Given the description of an element on the screen output the (x, y) to click on. 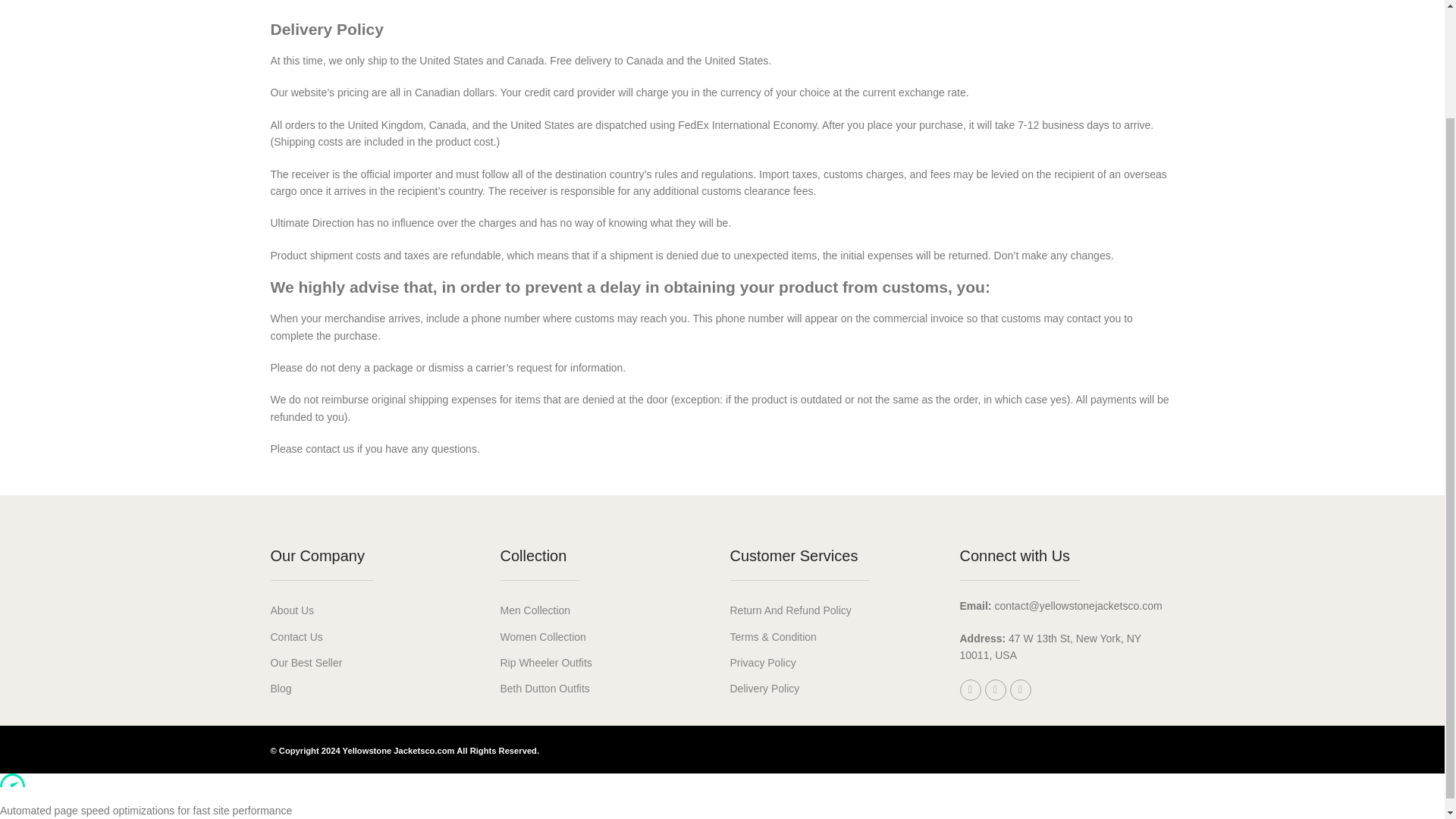
Return And Refund Policy (836, 610)
About Us (376, 610)
Our Best Seller (376, 662)
Contact Us (376, 637)
Beth Dutton Outfits (607, 688)
Delivery Policy (836, 688)
Rip Wheeler Outfits (607, 662)
Privacy Policy (836, 662)
Blog (376, 688)
Women Collection (607, 637)
Men Collection (607, 610)
